Given the description of an element on the screen output the (x, y) to click on. 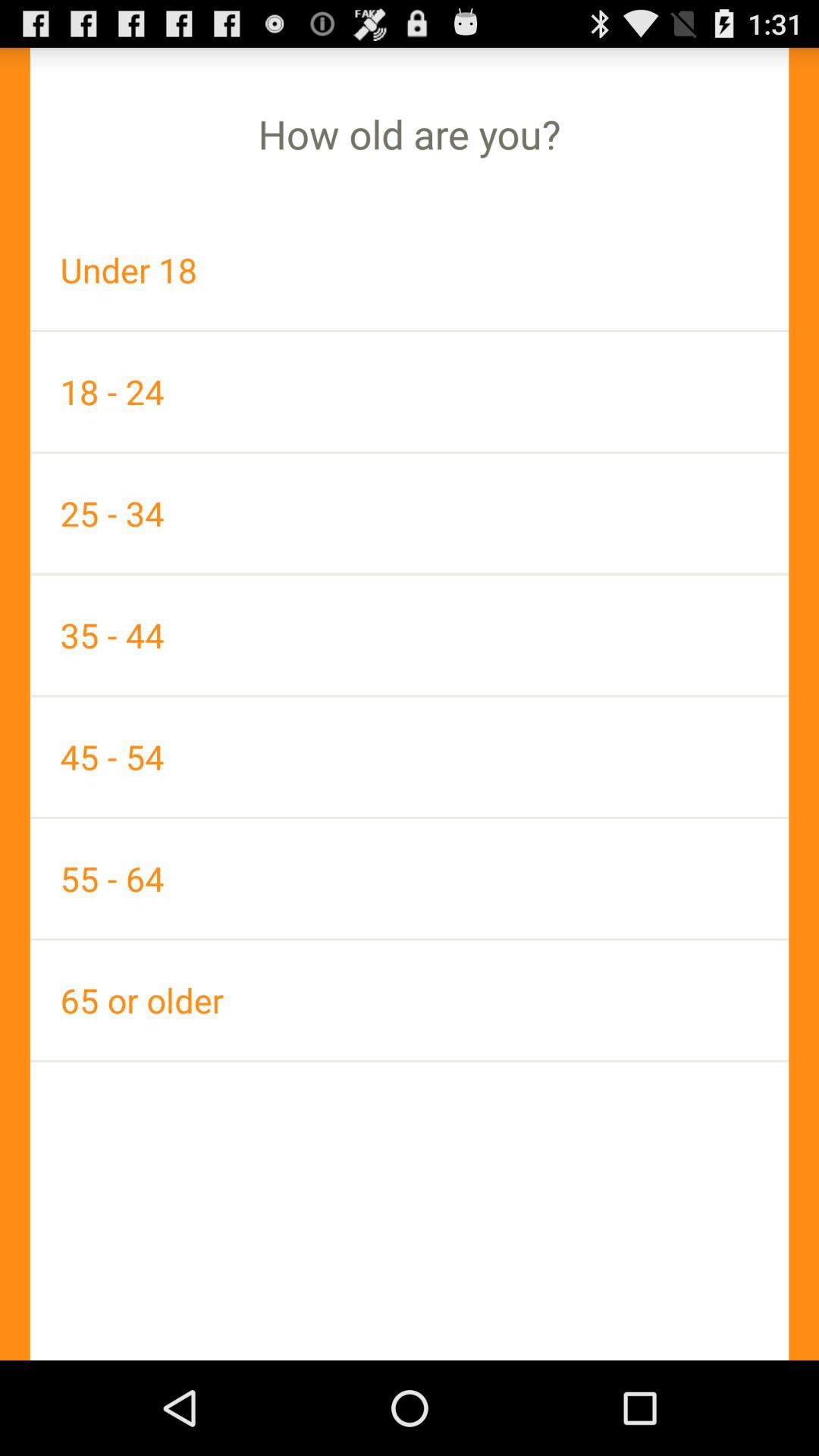
launch the icon above 65 or older item (409, 878)
